Given the description of an element on the screen output the (x, y) to click on. 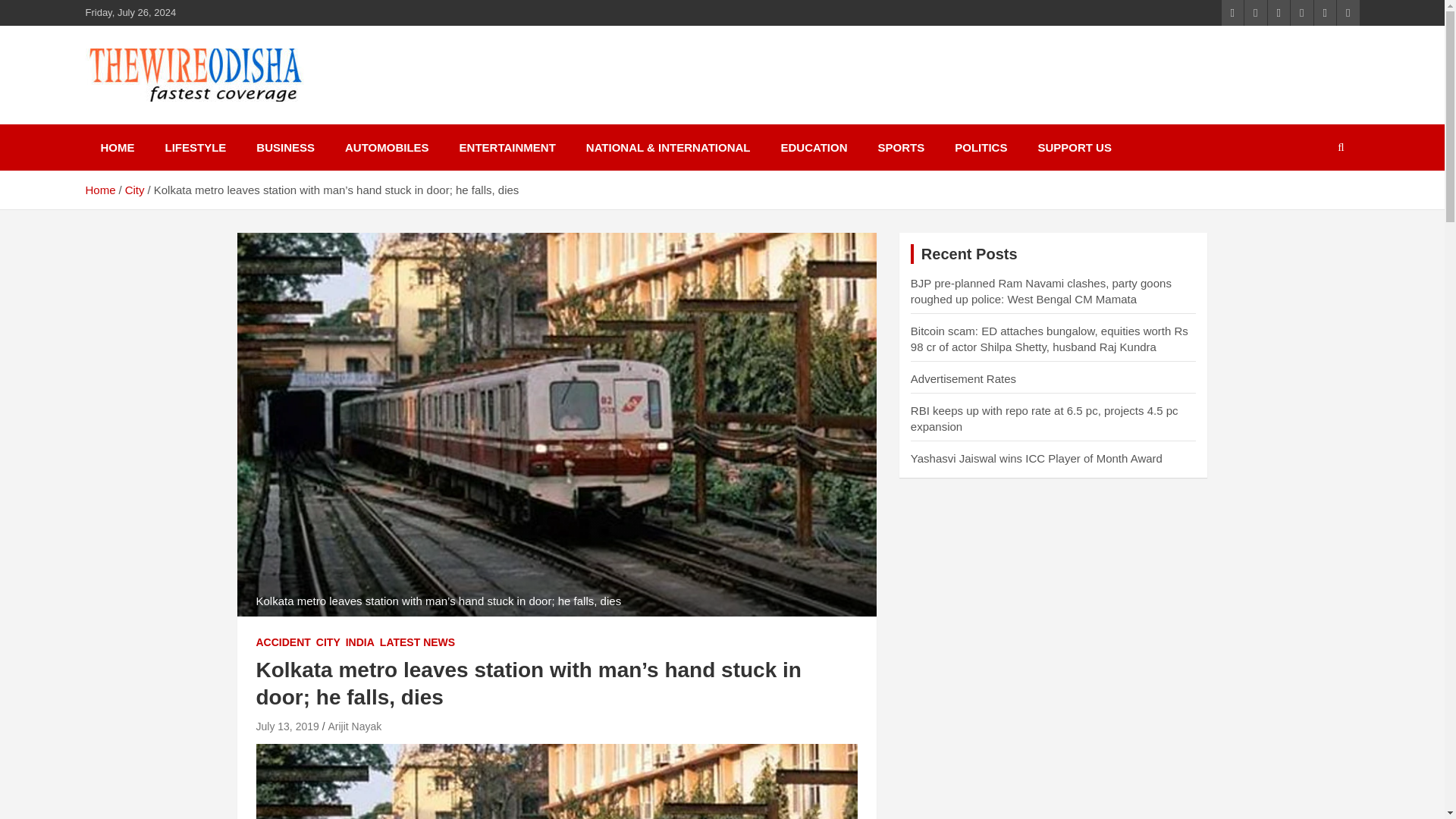
SPORTS (901, 147)
Home (99, 189)
EDUCATION (813, 147)
ACCIDENT (283, 642)
INDIA (360, 642)
ENTERTAINMENT (507, 147)
LIFESTYLE (195, 147)
CITY (327, 642)
POLITICS (980, 147)
BUSINESS (285, 147)
HOME (116, 147)
Arijit Nayak (354, 726)
July 13, 2019 (287, 726)
AUTOMOBILES (387, 147)
City (134, 189)
